Given the description of an element on the screen output the (x, y) to click on. 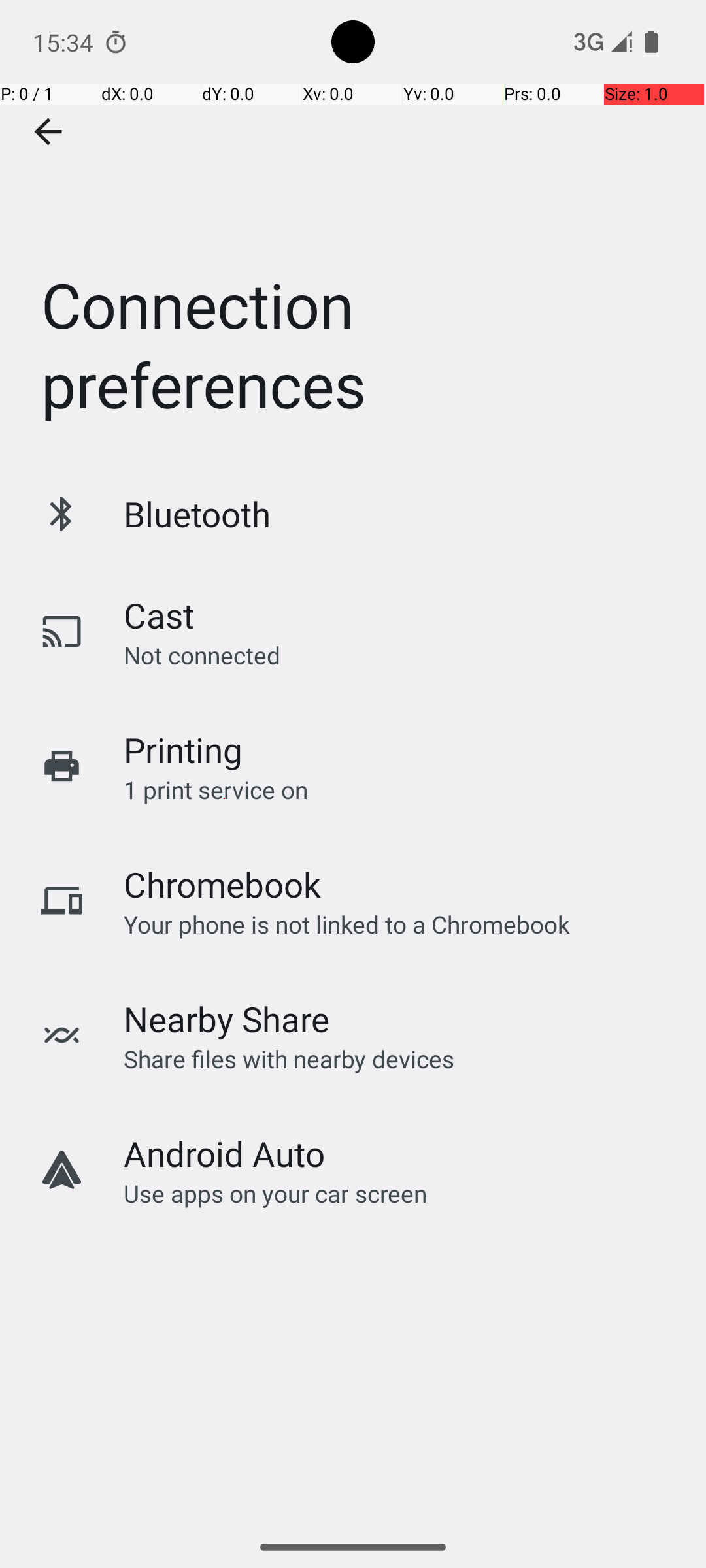
Bluetooth Element type: android.widget.TextView (197, 513)
Cast Element type: android.widget.TextView (158, 614)
Not connected Element type: android.widget.TextView (201, 654)
Printing Element type: android.widget.TextView (182, 749)
1 print service on Element type: android.widget.TextView (215, 789)
Chromebook Element type: android.widget.TextView (222, 884)
Your phone is not linked to a Chromebook Element type: android.widget.TextView (346, 923)
Nearby Share Element type: android.widget.TextView (226, 1018)
Share files with nearby devices Element type: android.widget.TextView (288, 1058)
Use apps on your car screen Element type: android.widget.TextView (275, 1192)
